Given the description of an element on the screen output the (x, y) to click on. 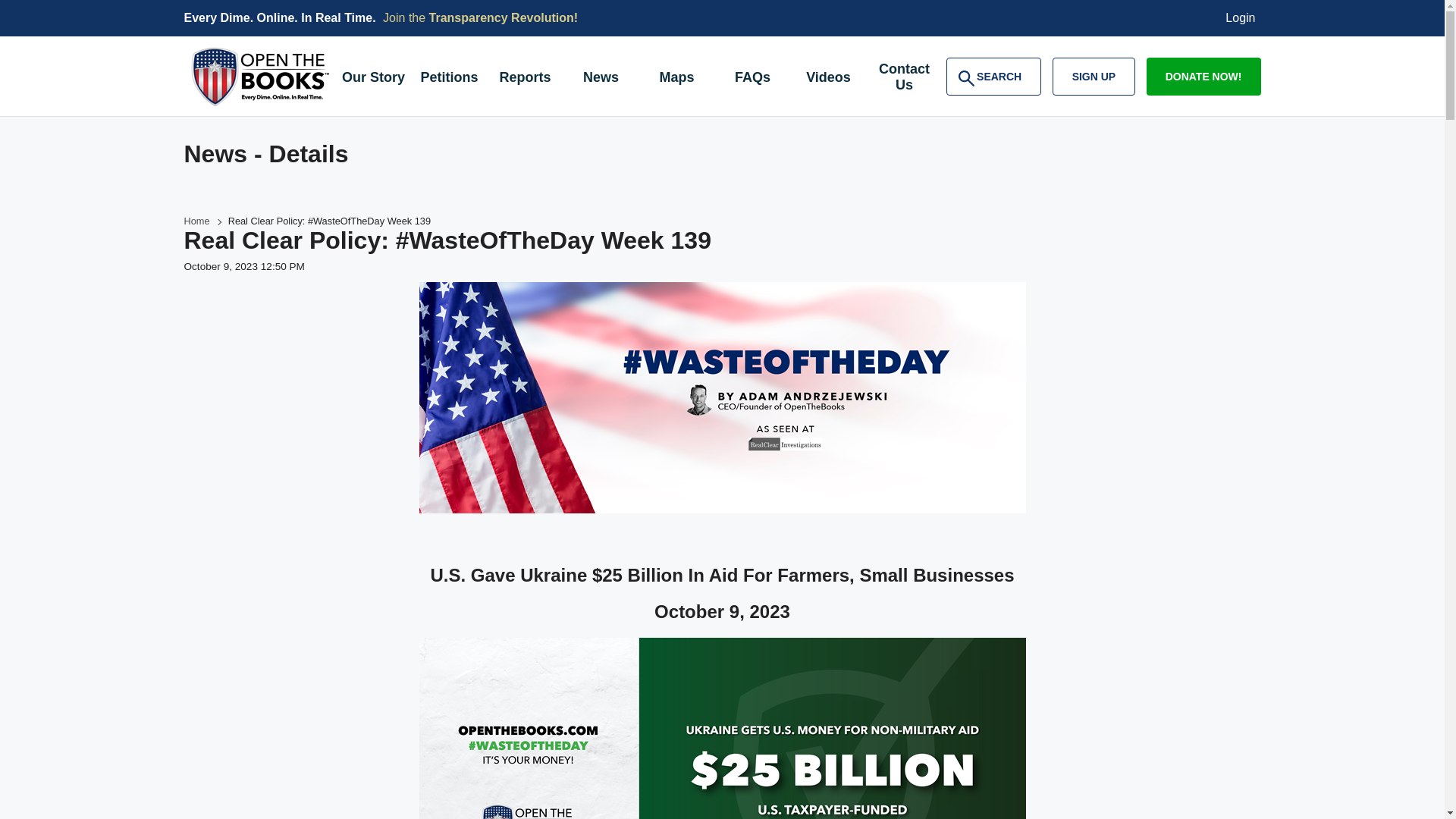
Maps (676, 78)
FAQs (752, 78)
Videos (828, 78)
Home (196, 220)
SIGN UP (1093, 76)
News (600, 78)
Transparency Revolution! (503, 17)
Reports (524, 78)
DONATE NOW! (1203, 76)
Petitions (448, 78)
Login (1240, 18)
Contact Us (993, 76)
Our Story (904, 78)
